Given the description of an element on the screen output the (x, y) to click on. 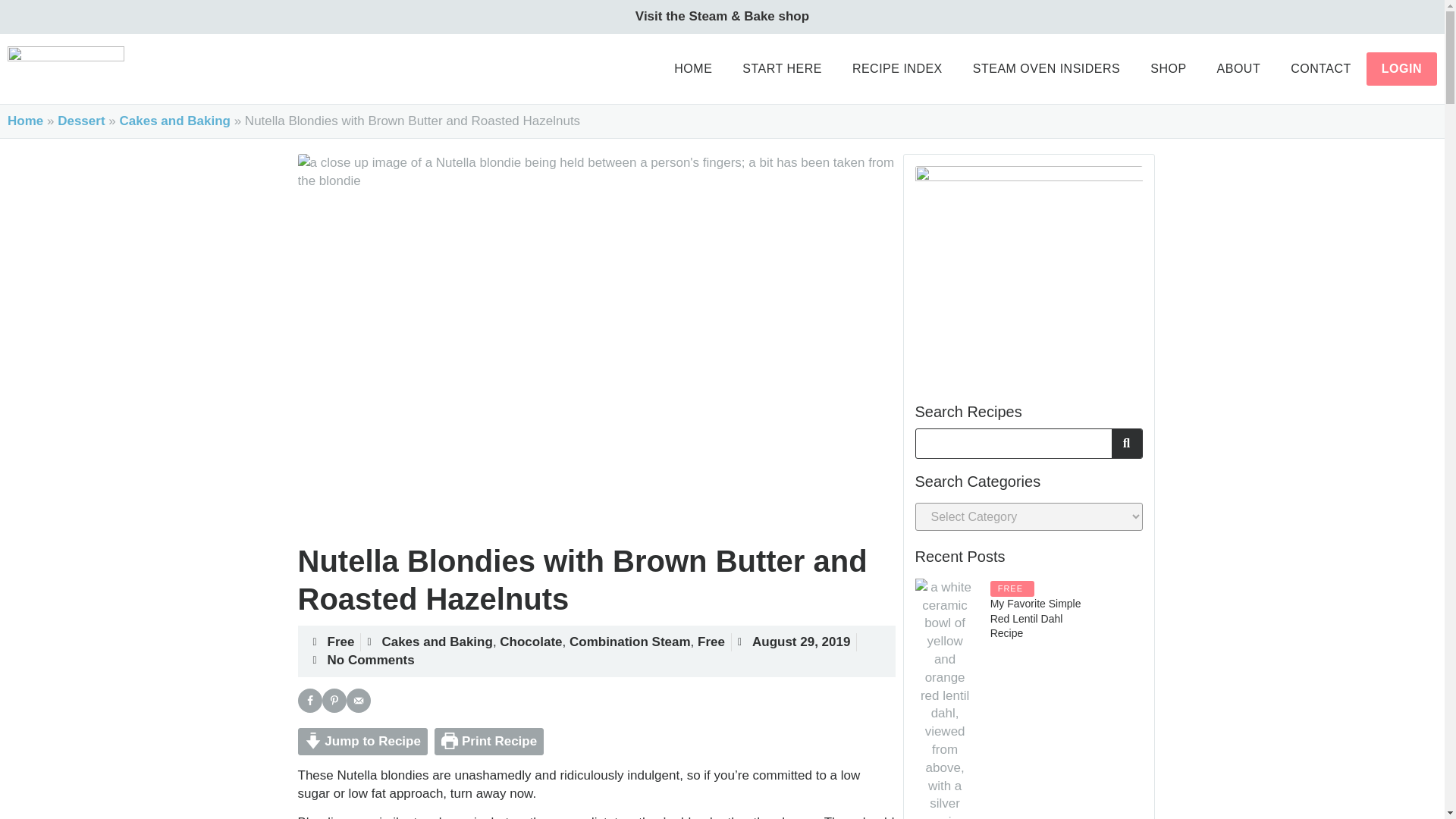
ABOUT (1239, 68)
Chocolate (530, 641)
RECIPE INDEX (897, 68)
Send over email (357, 700)
Cakes and Baking (174, 120)
START HERE (781, 68)
Home (25, 120)
Jump to Recipe (361, 741)
STEAM OVEN INSIDERS (1046, 68)
SHOP (1168, 68)
